Given the description of an element on the screen output the (x, y) to click on. 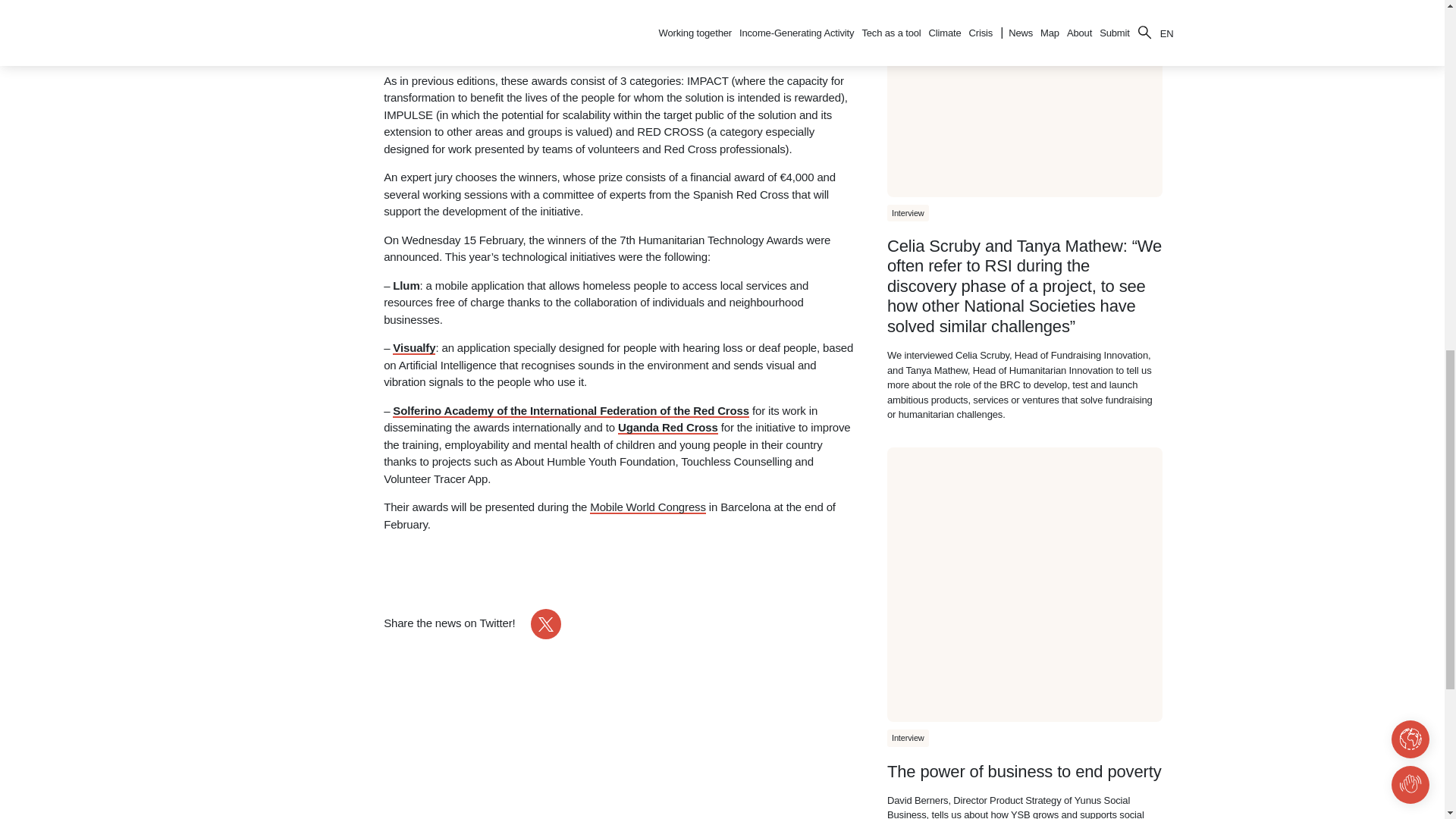
Uganda Red Cross (667, 427)
Visualfy (414, 347)
Mobile World Congress (646, 507)
Humanitarian Technology Awards (617, 35)
Interview (907, 737)
Share the news on Twitter! (472, 624)
Interview (907, 212)
